Given the description of an element on the screen output the (x, y) to click on. 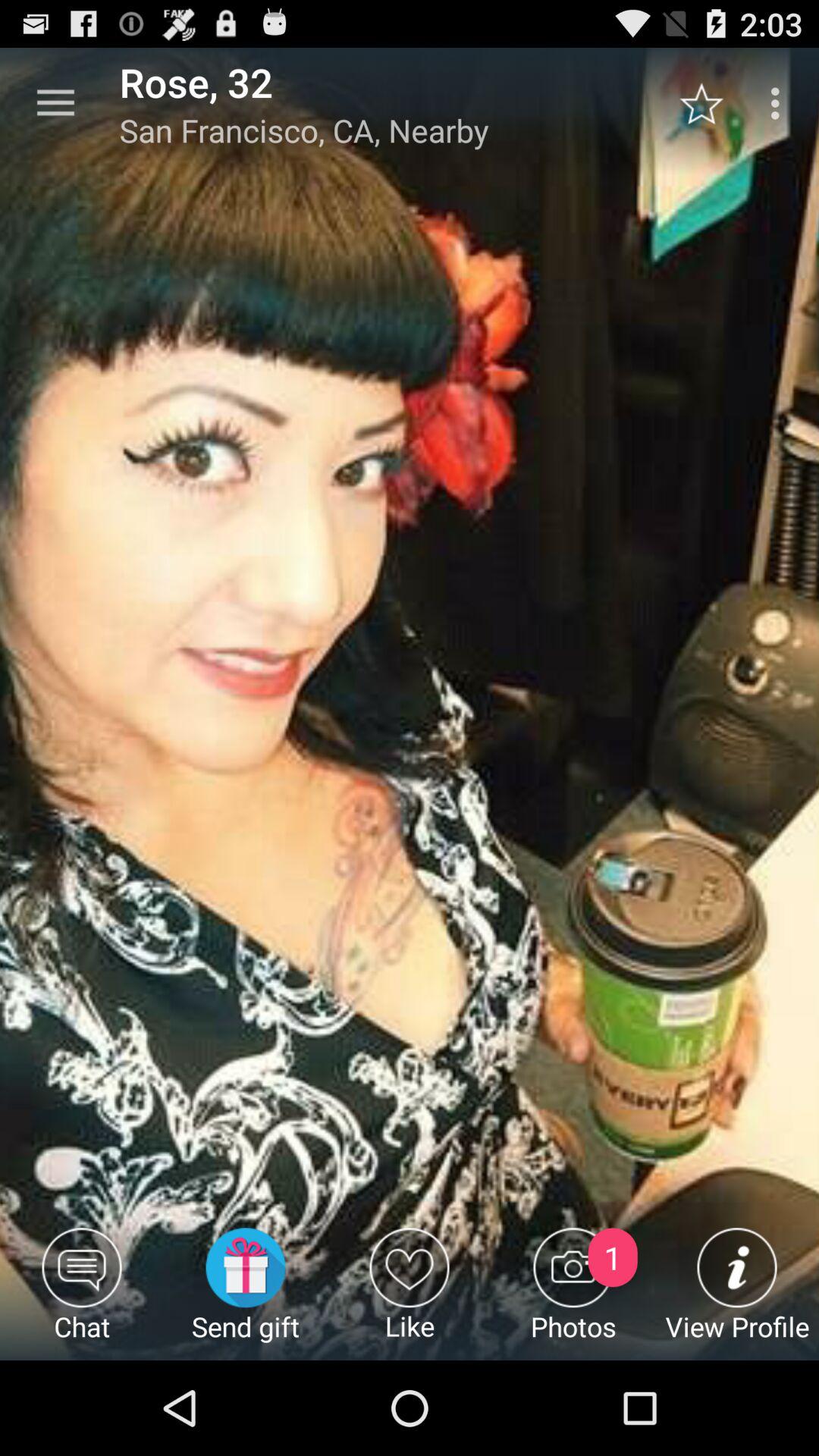
choose the item next to rose, 32 icon (55, 103)
